Given the description of an element on the screen output the (x, y) to click on. 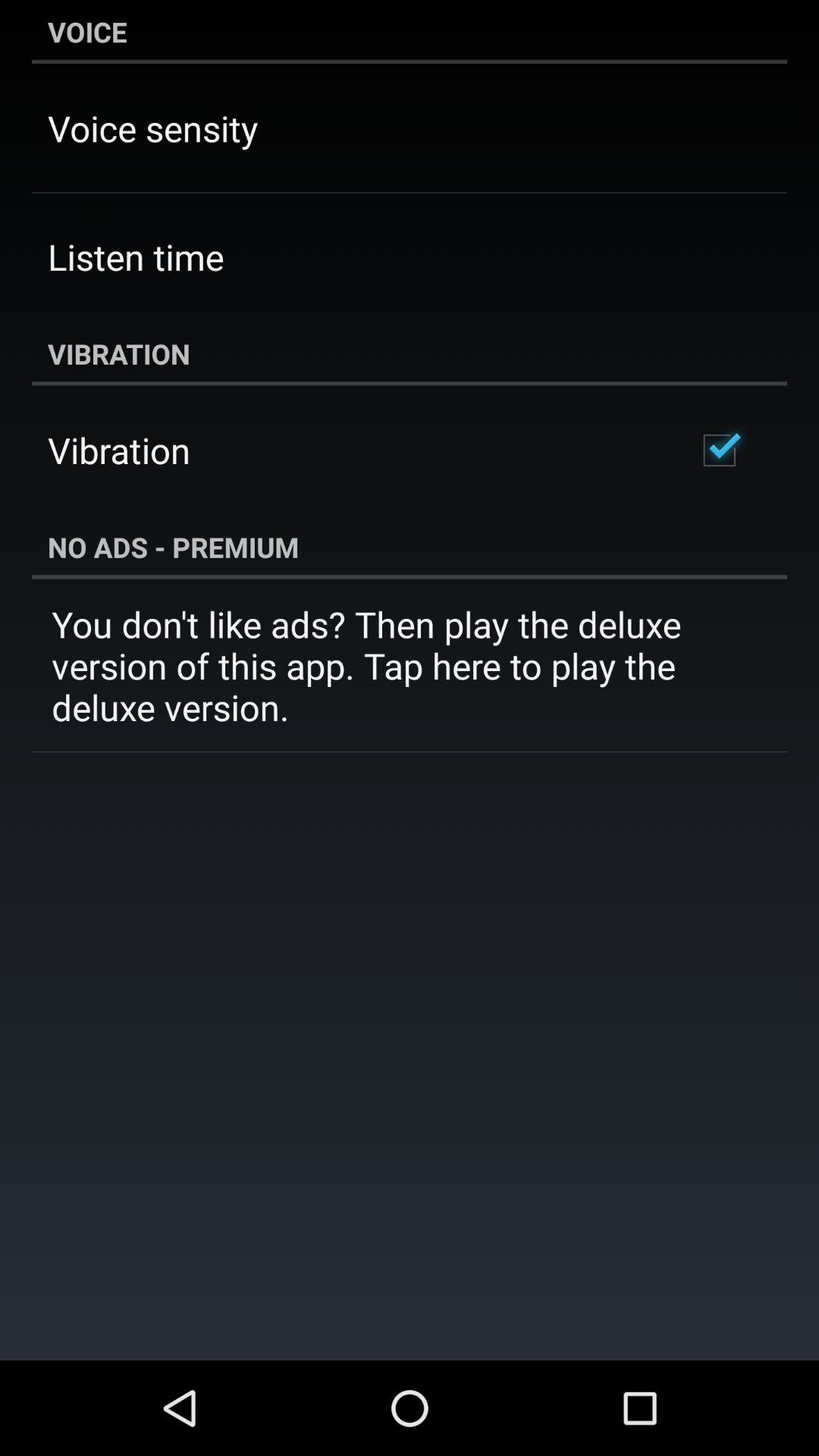
tap the app above the you don t item (409, 546)
